Given the description of an element on the screen output the (x, y) to click on. 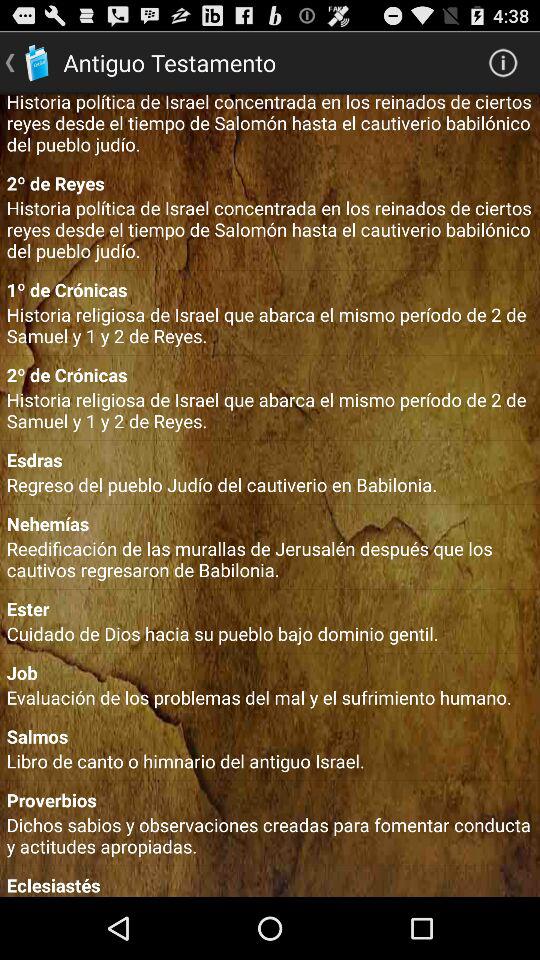
click the app below regreso del pueblo (269, 523)
